Given the description of an element on the screen output the (x, y) to click on. 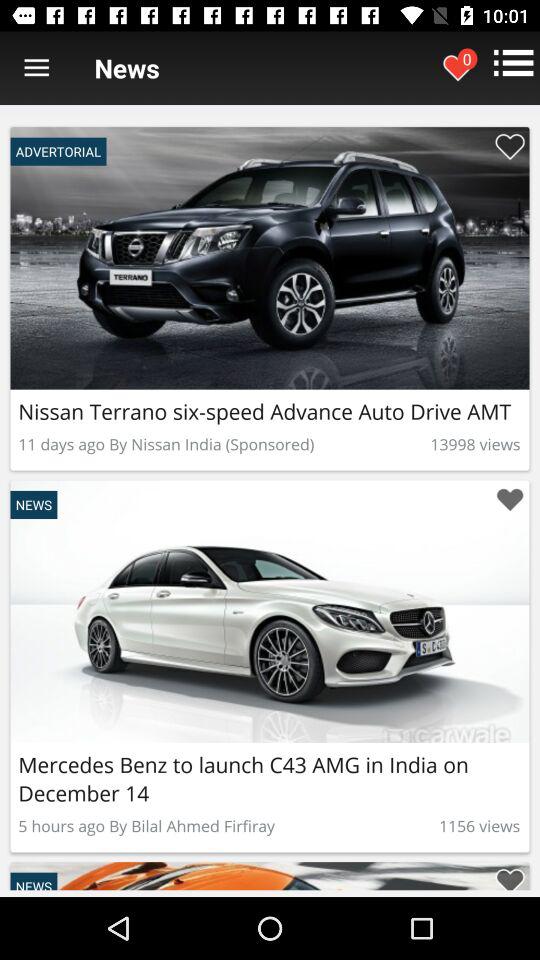
favorite (509, 146)
